Given the description of an element on the screen output the (x, y) to click on. 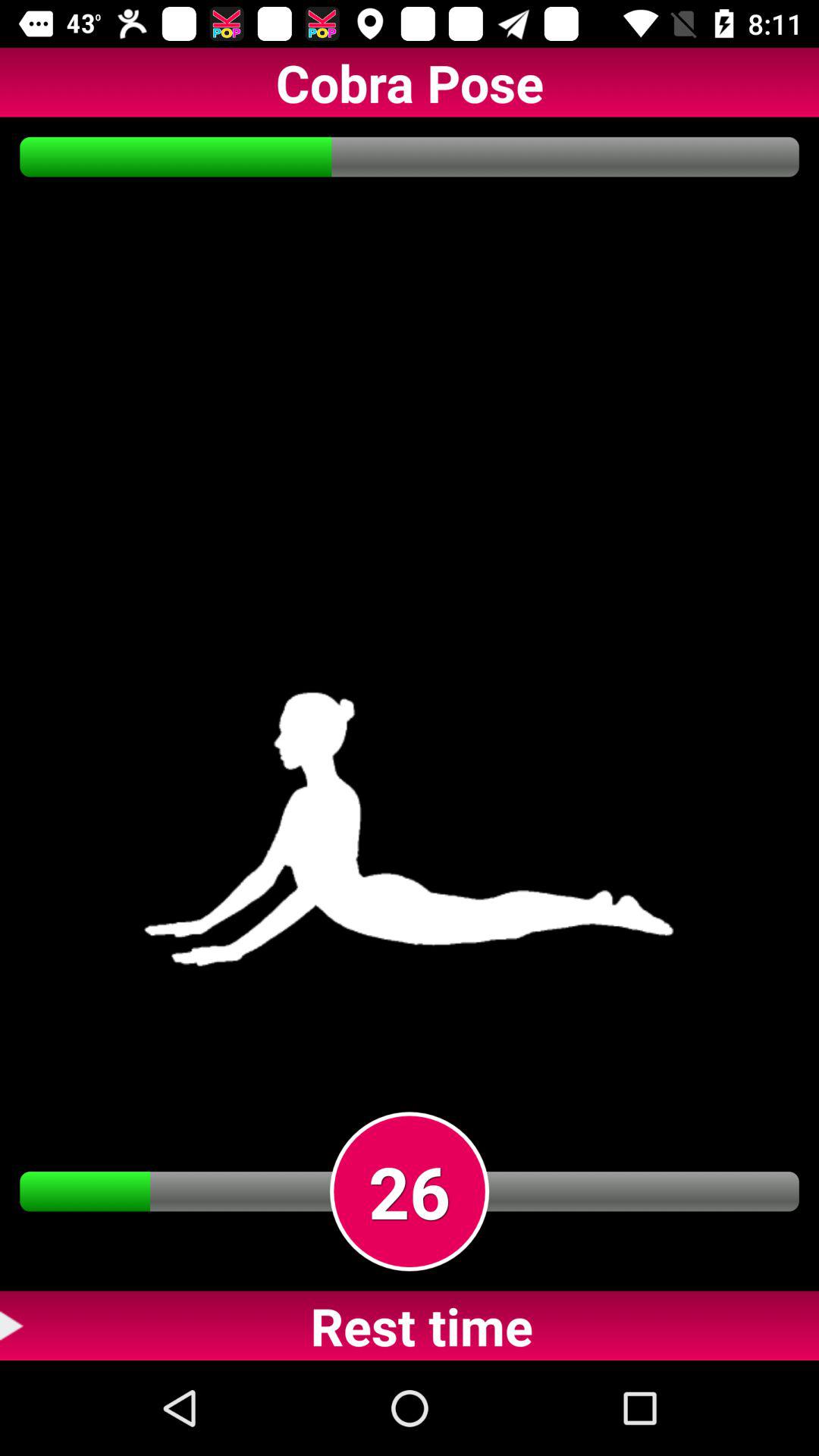
click rest time (409, 1325)
